Given the description of an element on the screen output the (x, y) to click on. 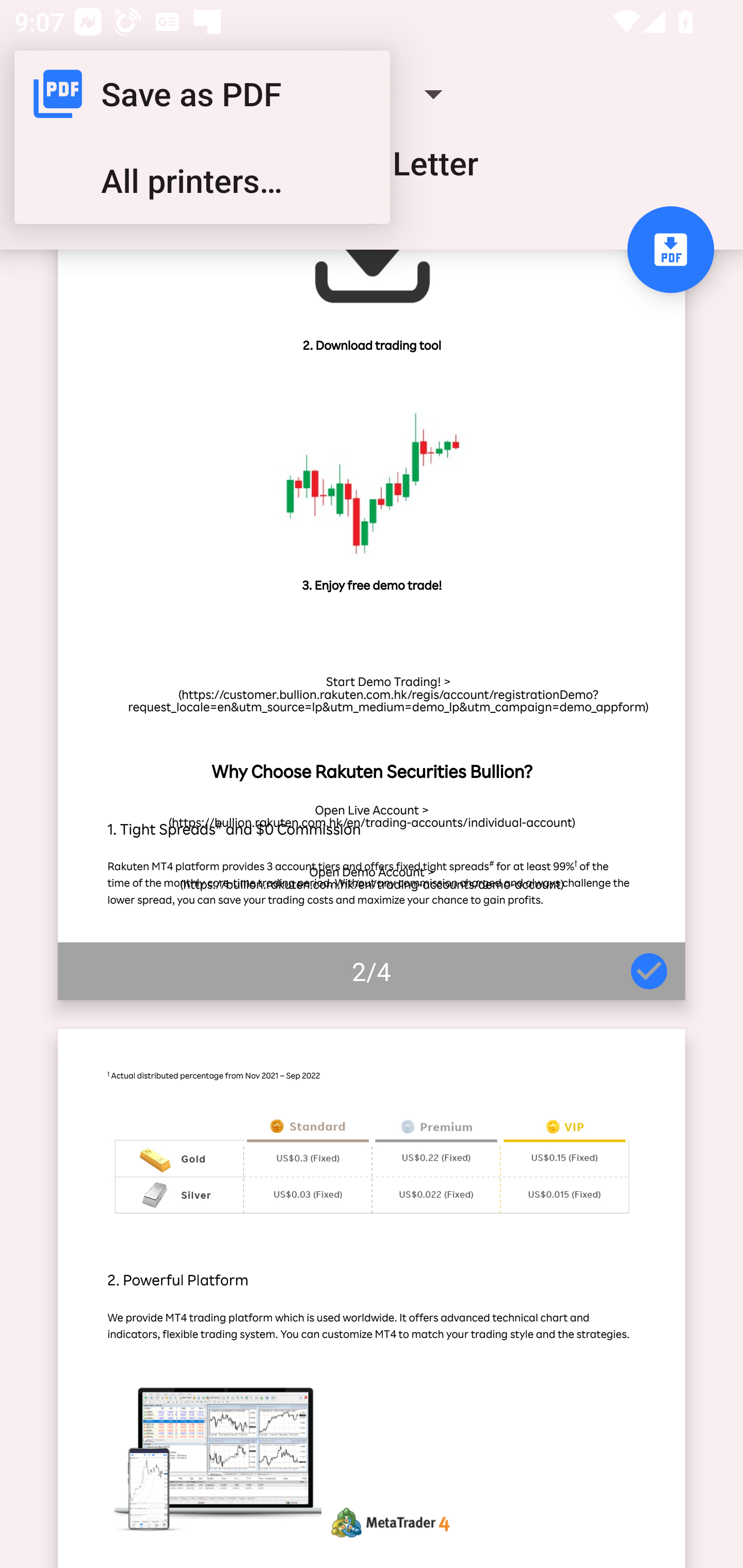
Save as PDF (202, 93)
All printers… (202, 180)
